Given the description of an element on the screen output the (x, y) to click on. 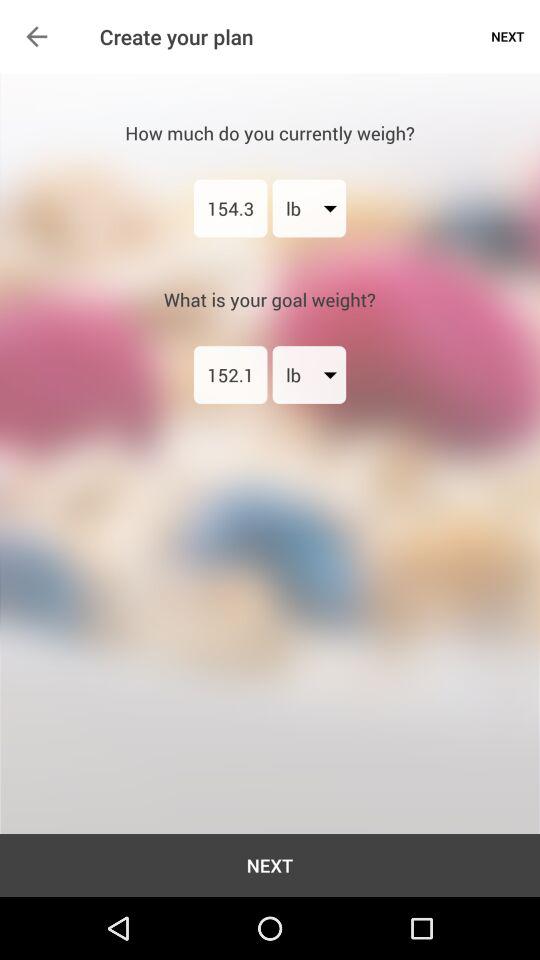
open item next to lb (230, 208)
